Given the description of an element on the screen output the (x, y) to click on. 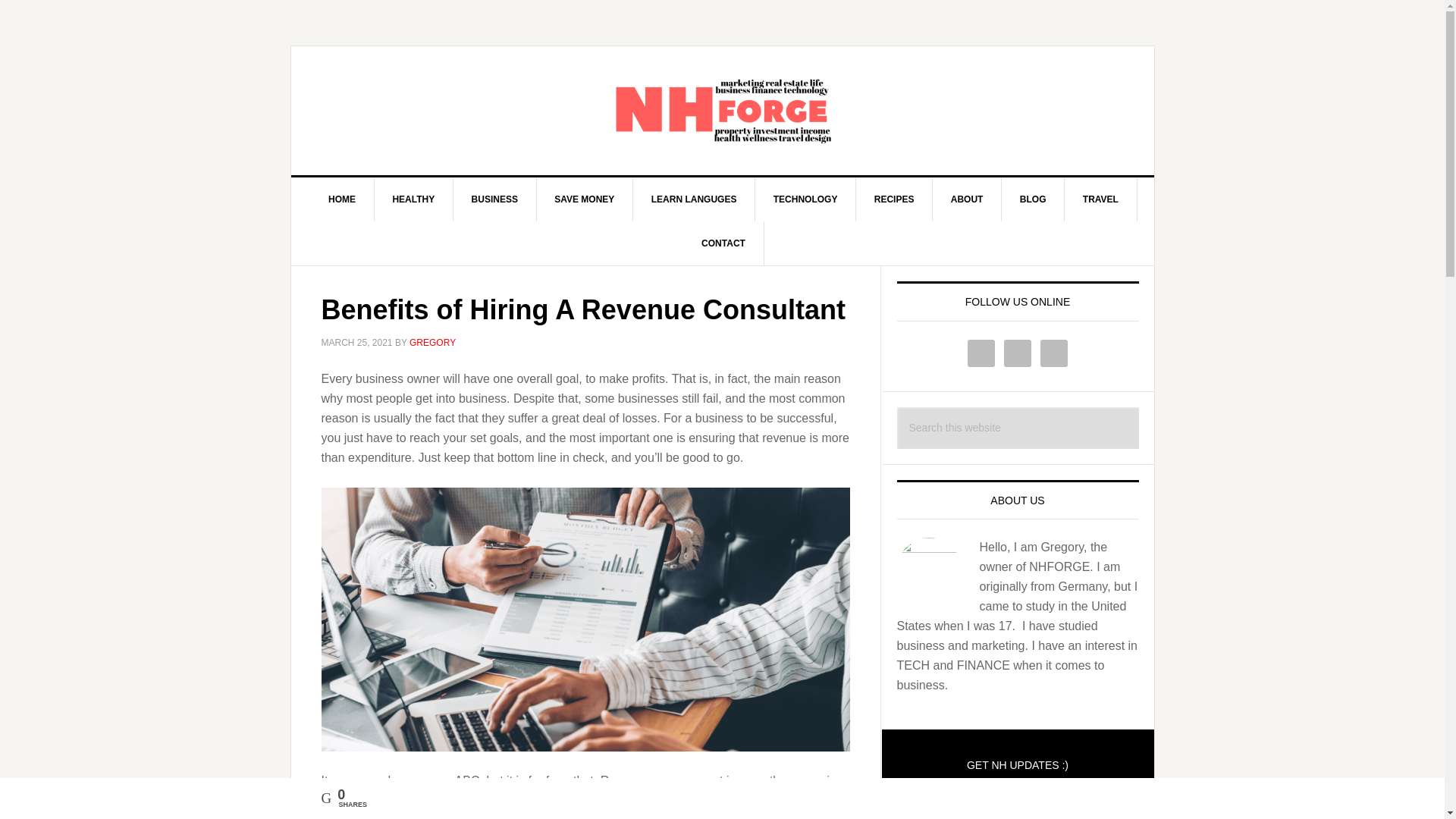
TRAVEL (1100, 199)
LEARN LANGUGES (694, 199)
ABOUT (968, 199)
BLOG (1033, 199)
RECIPES (894, 199)
TECHNOLOGY (806, 199)
NH FORGE (722, 110)
GREGORY (432, 342)
CONTACT (723, 243)
SAVE MONEY (584, 199)
